Given the description of an element on the screen output the (x, y) to click on. 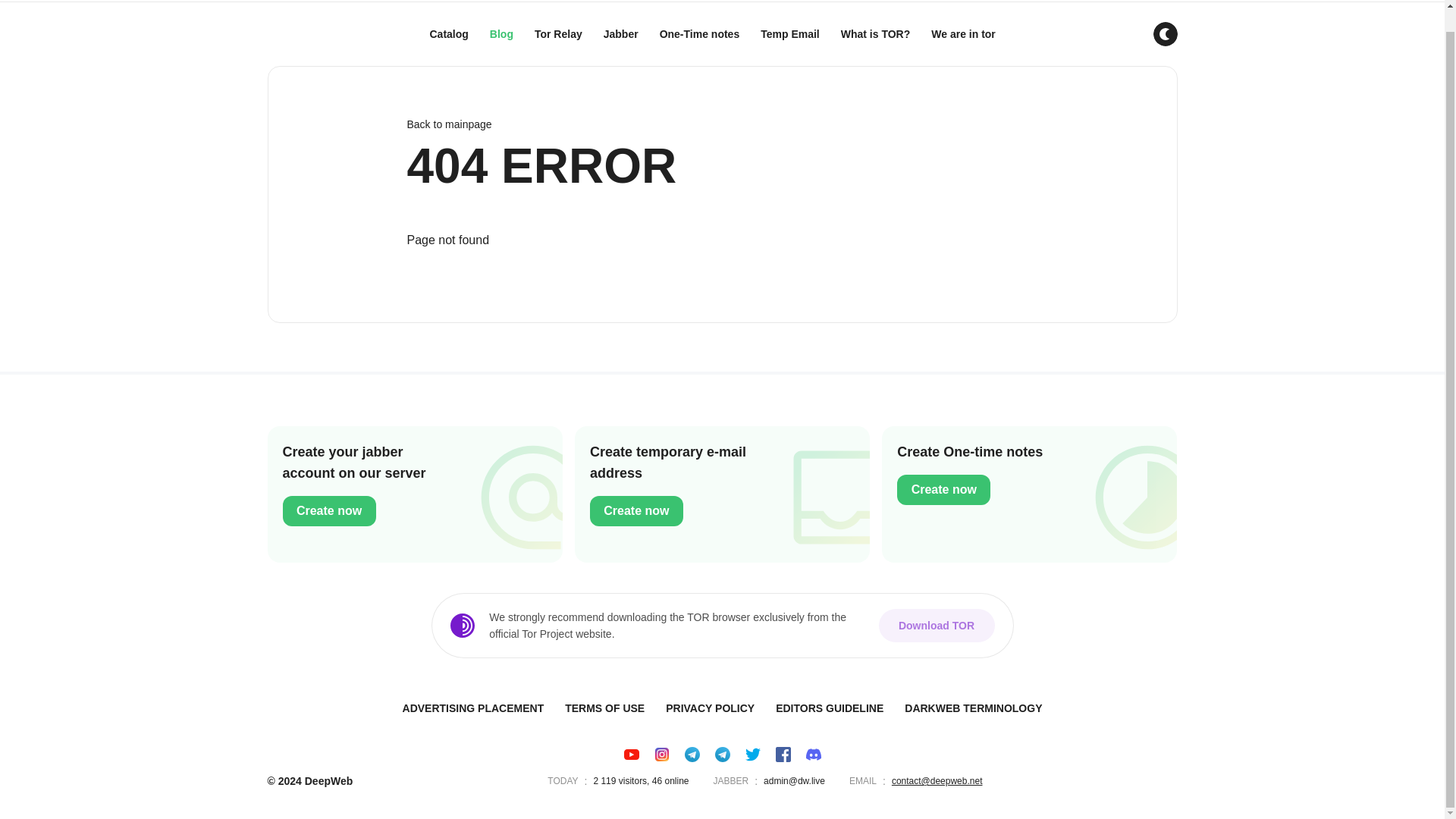
Blog (501, 34)
EDITORS GUIDELINE (829, 708)
YouTube (631, 754)
What is TOR? (875, 34)
TERMS OF USE (604, 708)
Instagram (660, 754)
Jabber (620, 34)
DARKWEB TERMINOLOGY (972, 708)
PocketDarkBot (691, 754)
Catalog (449, 34)
Temp Email (789, 34)
Back to mainpage (721, 124)
Facebook (782, 754)
Tor Relay (558, 34)
deepwebdotnet (721, 754)
